Given the description of an element on the screen output the (x, y) to click on. 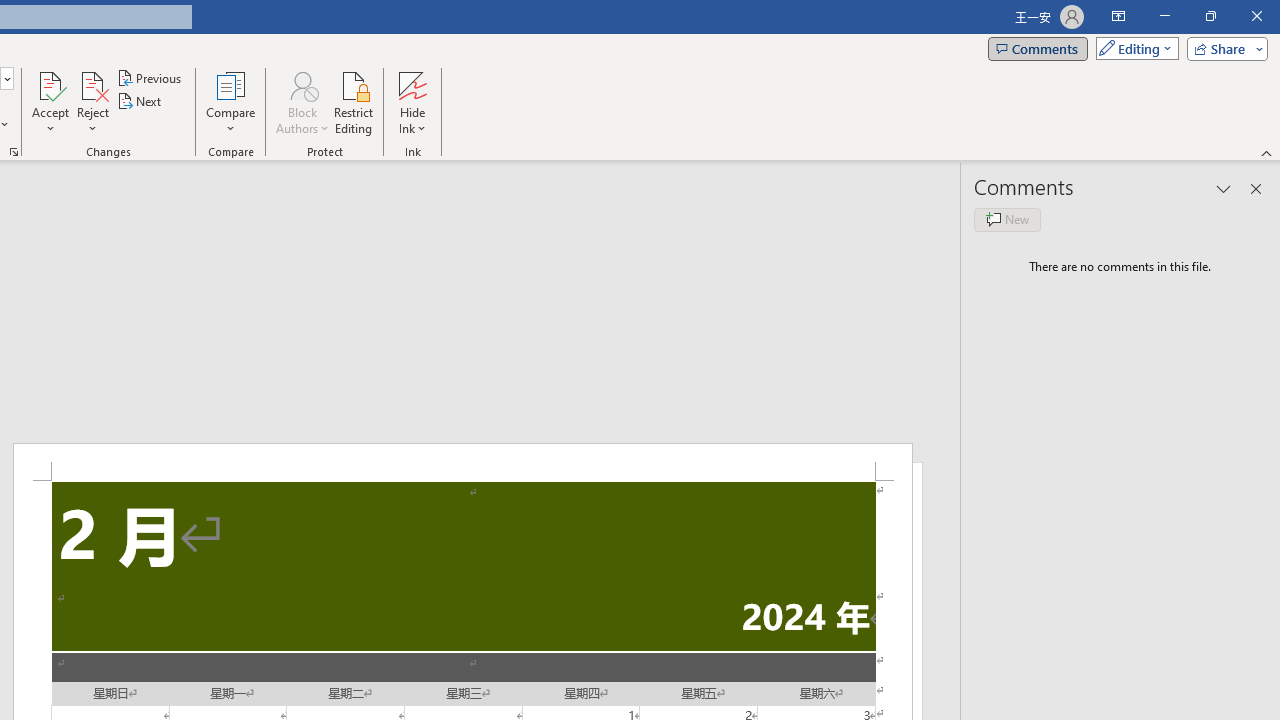
Block Authors (302, 84)
New comment (1007, 219)
Hide Ink (412, 102)
Accept and Move to Next (50, 84)
Reject (92, 102)
Accept (50, 102)
Header -Section 2- (462, 461)
Hide Ink (412, 84)
